Given the description of an element on the screen output the (x, y) to click on. 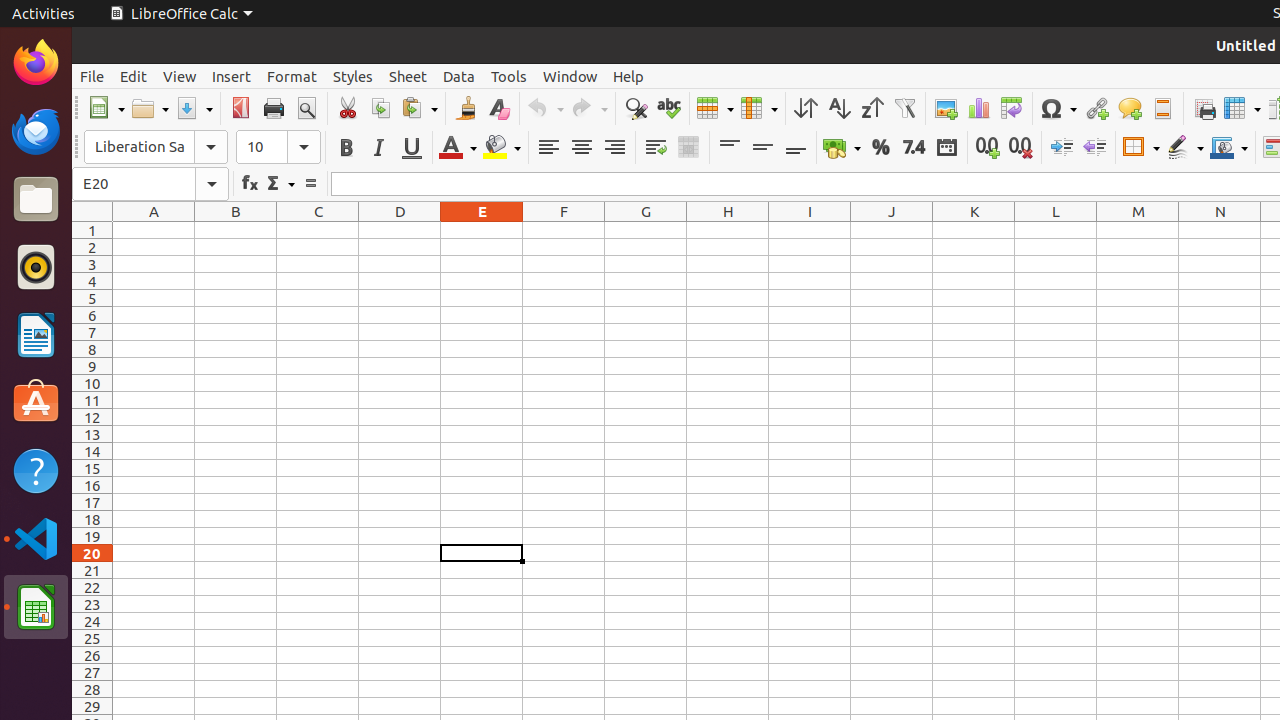
Row Element type: push-button (715, 108)
AutoFilter Element type: push-button (904, 108)
Data Element type: menu (459, 76)
L1 Element type: table-cell (1056, 230)
